Given the description of an element on the screen output the (x, y) to click on. 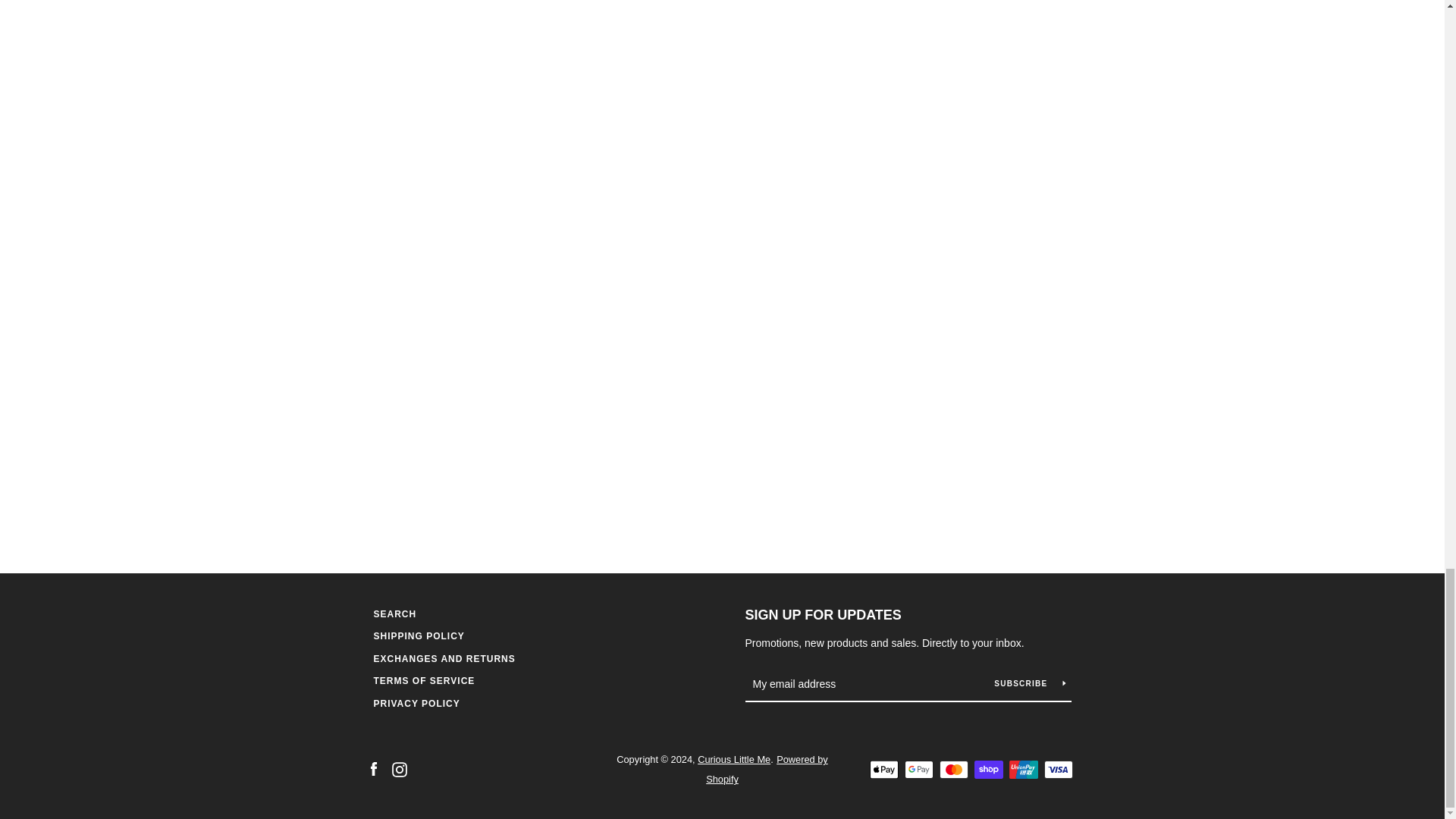
TERMS OF SERVICE (423, 680)
Facebook (372, 768)
Curious Little Me (733, 758)
SEARCH (394, 614)
Visa (1057, 769)
Shop Pay (988, 769)
Google Pay (918, 769)
Union Pay (1022, 769)
SHIPPING POLICY (418, 635)
SUBSCRIBE (1029, 683)
